Given the description of an element on the screen output the (x, y) to click on. 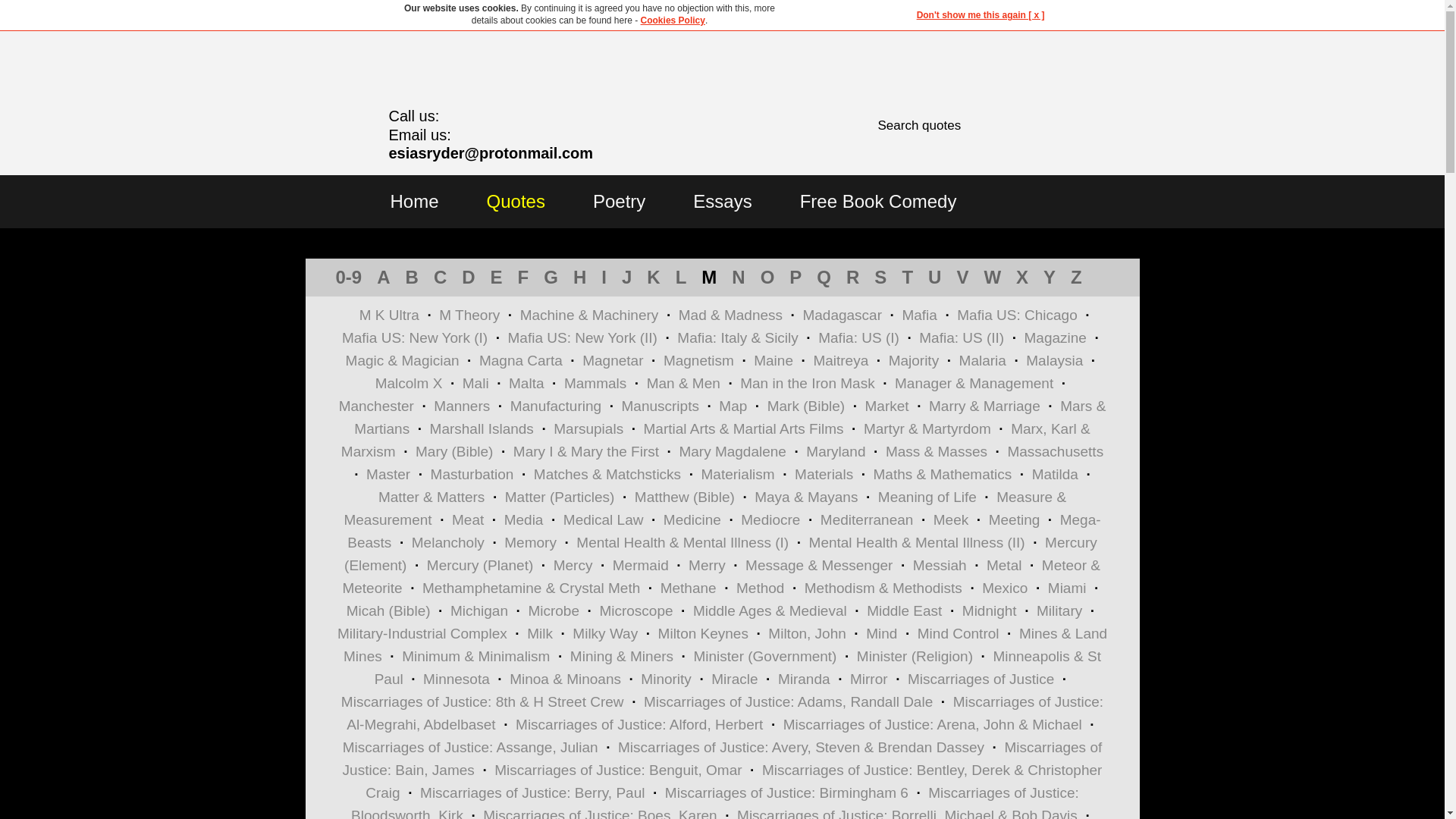
Free Book Comedy (877, 200)
Search quotes (983, 126)
Poetry (618, 200)
Essays (722, 200)
Home (414, 200)
Quotes (515, 200)
